Given the description of an element on the screen output the (x, y) to click on. 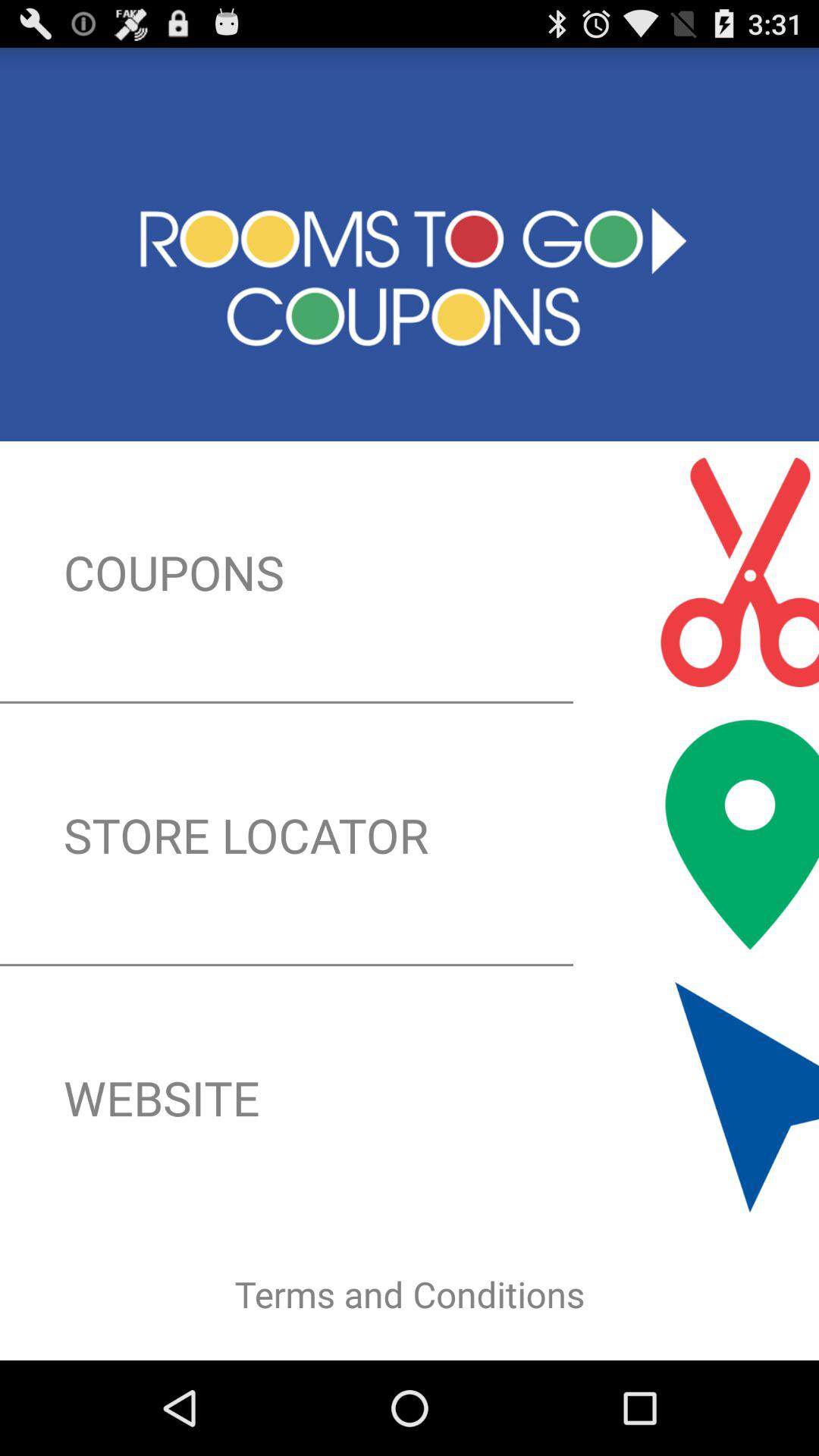
turn off the button below the store locator (409, 1097)
